Given the description of an element on the screen output the (x, y) to click on. 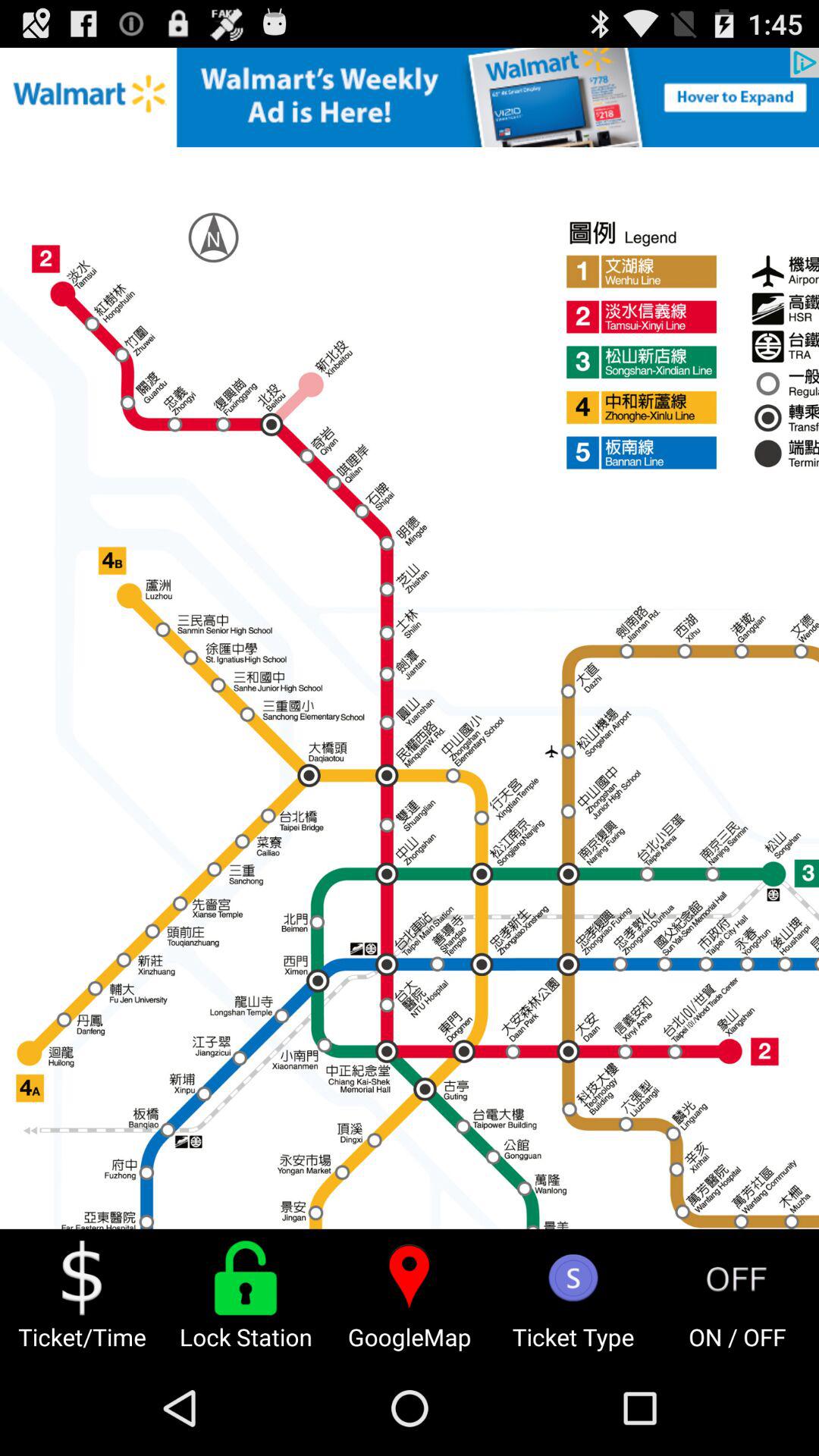
map (409, 638)
